Given the description of an element on the screen output the (x, y) to click on. 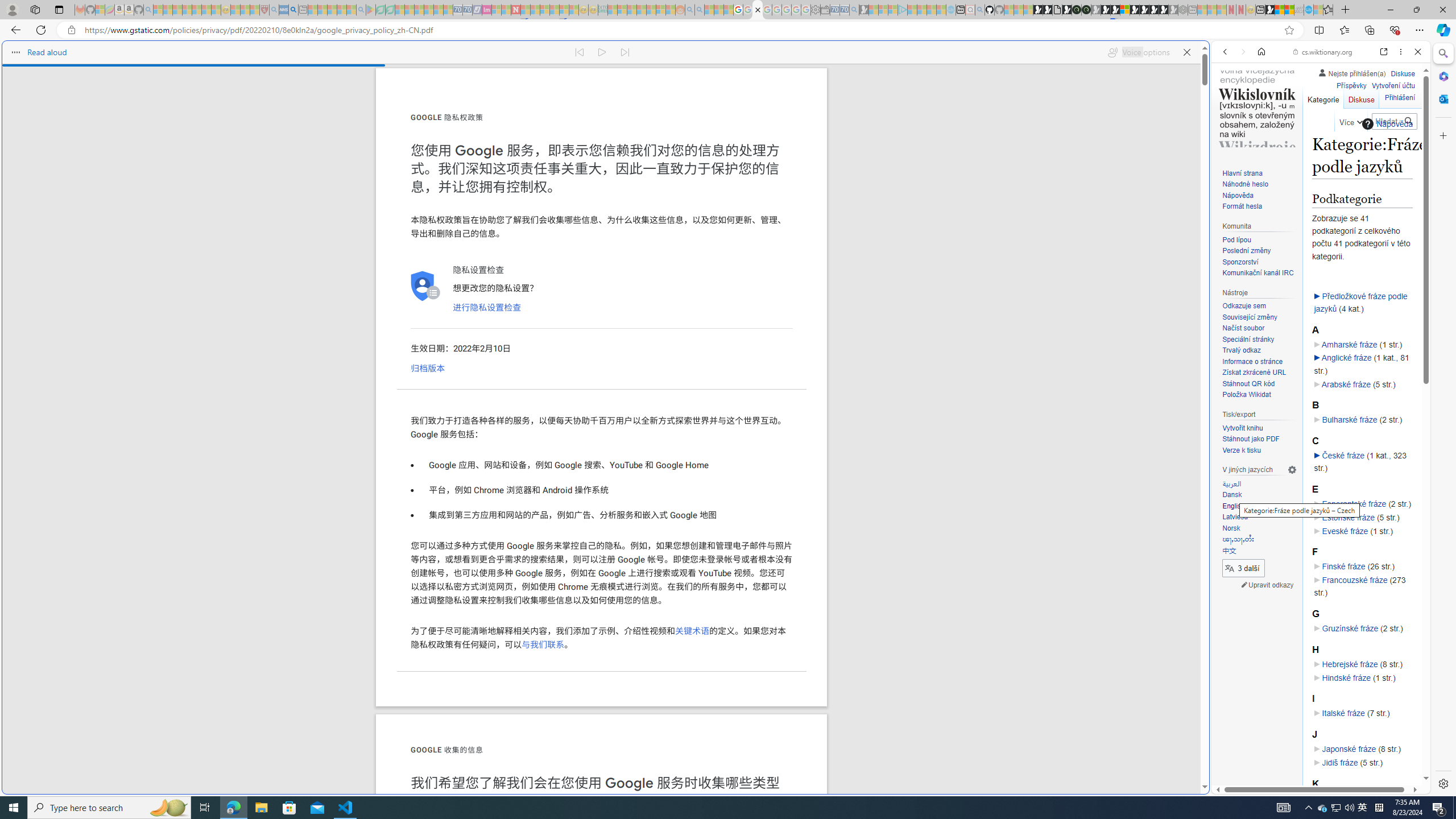
Close read aloud (1186, 52)
Local - MSN - Sleeping (254, 9)
Diskuse (1360, 96)
Home | Sky Blue Bikes - Sky Blue Bikes (1118, 242)
Play Free Online Games | Games from Microsoft Start (1144, 9)
MSN (1118, 536)
Search Filter, VIDEOS (1300, 129)
